Given the description of an element on the screen output the (x, y) to click on. 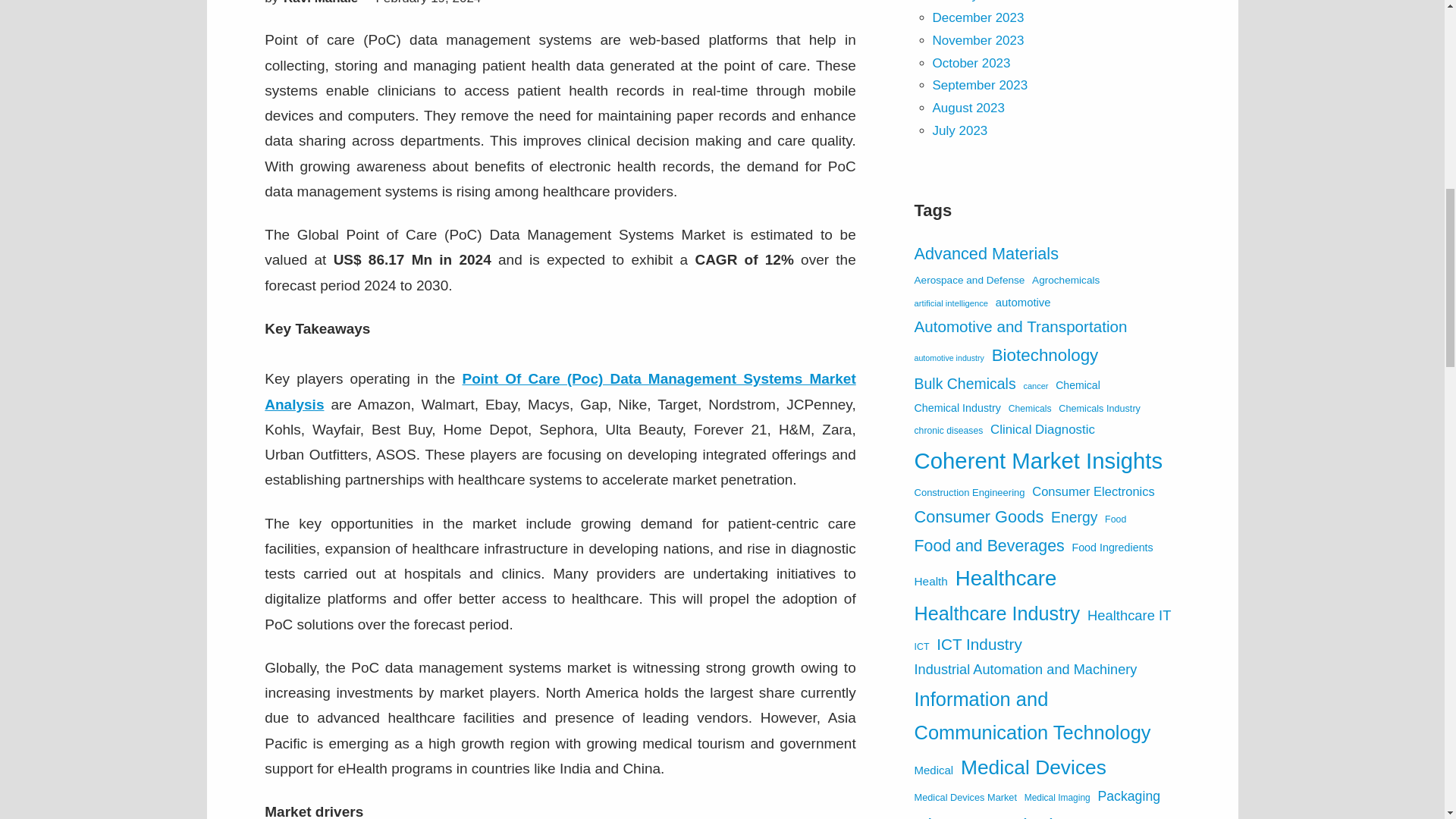
February 19, 2024 (427, 2)
